Given the description of an element on the screen output the (x, y) to click on. 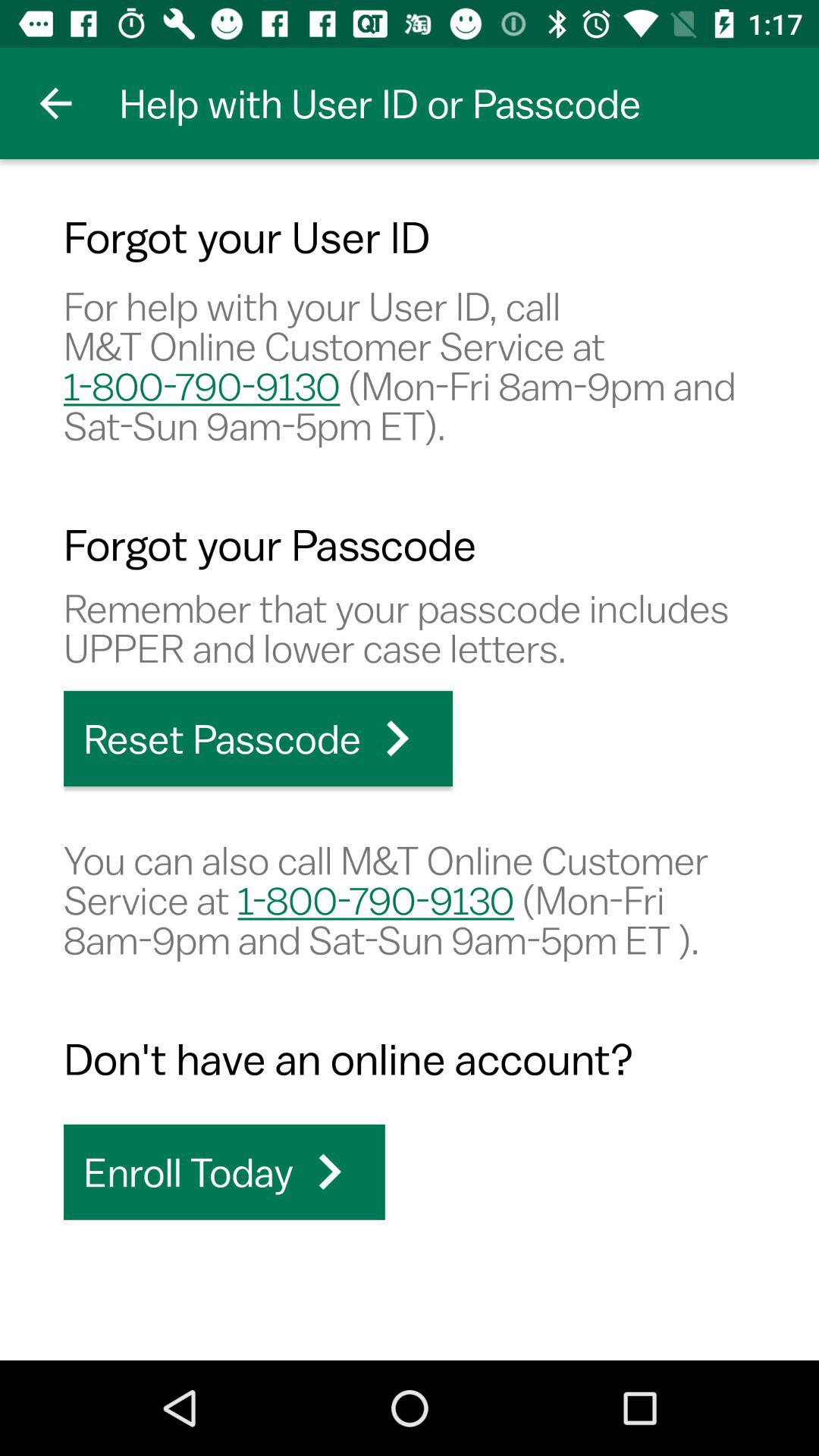
tap the you can also icon (409, 899)
